Given the description of an element on the screen output the (x, y) to click on. 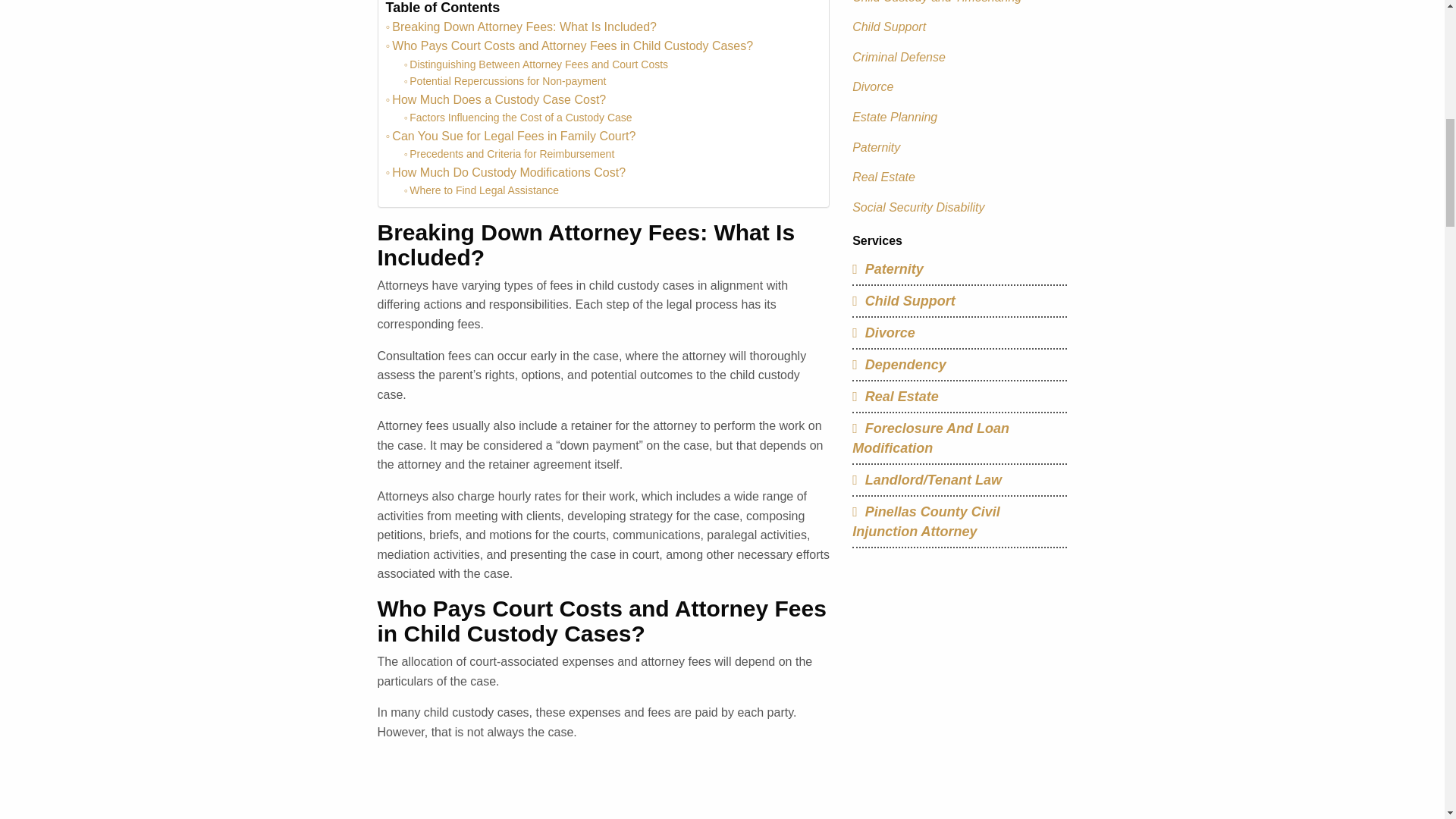
Factors Influencing the Cost of a Custody Case (517, 117)
Distinguishing Between Attorney Fees and Court Costs (535, 64)
Potential Repercussions for Non-payment (504, 80)
Breaking Down Attorney Fees: What Is Included? (520, 26)
Where to Find Legal Assistance (481, 190)
How Much Does a Custody Case Cost? (495, 99)
Can You Sue for Legal Fees in Family Court? (509, 136)
How Much Do Custody Modifications Cost? (505, 172)
Precedents and Criteria for Reimbursement (508, 153)
